Given the description of an element on the screen output the (x, y) to click on. 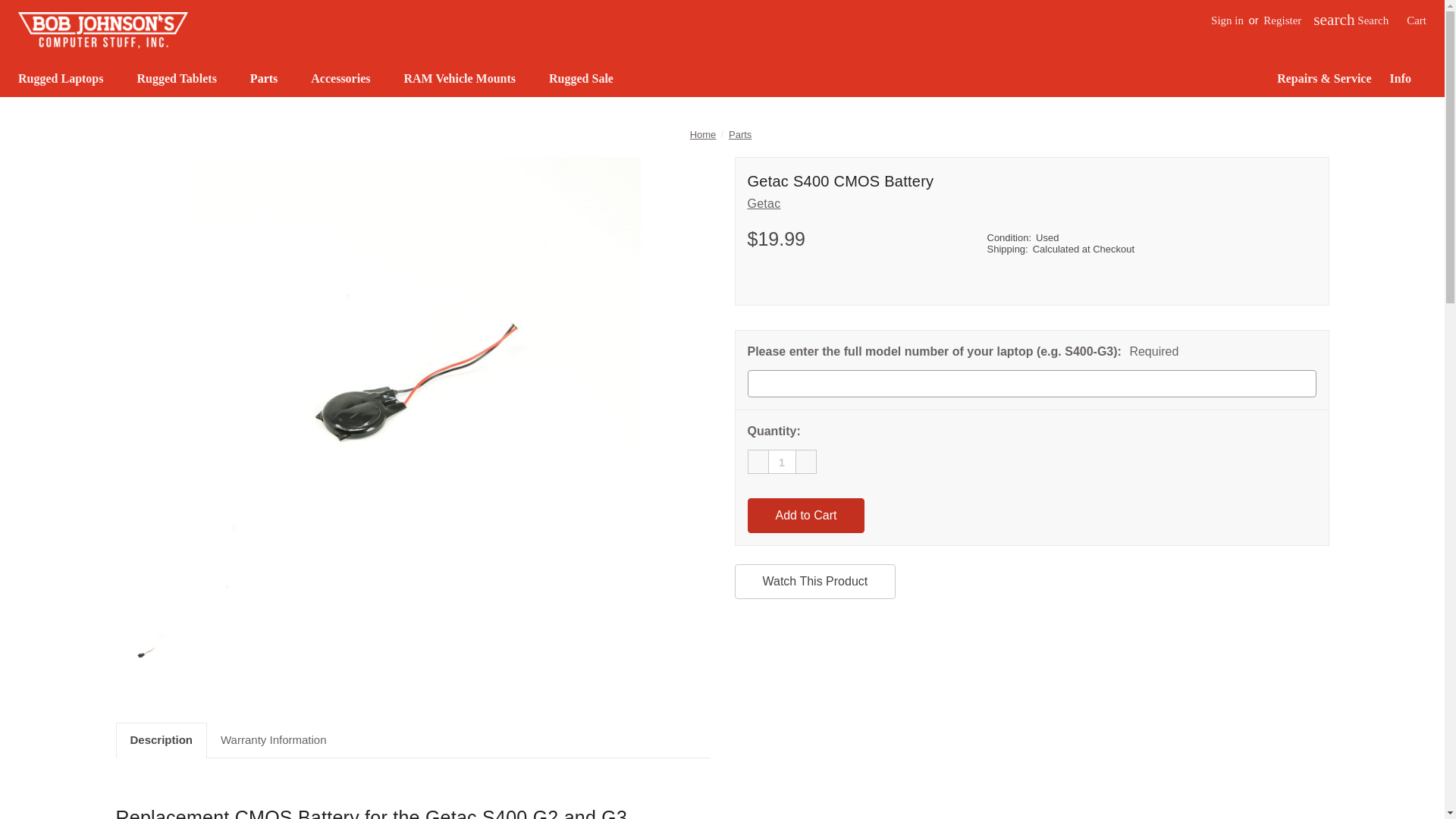
Bob Johnson's Computer Stuff, Inc. (102, 30)
Refurbished Panasonic Toughbooks (873, 117)
Register (1281, 20)
All Rugged Laptops (266, 117)
Add to Cart (806, 515)
Accessories (347, 78)
Refurbished Getac Laptops (570, 117)
Rugged Laptops (68, 78)
Cart (1416, 20)
Rugged Tablets (184, 78)
Refurbished Dell Laptops (1176, 117)
1 (781, 461)
Sign in (1227, 20)
search Search (1350, 20)
